Given the description of an element on the screen output the (x, y) to click on. 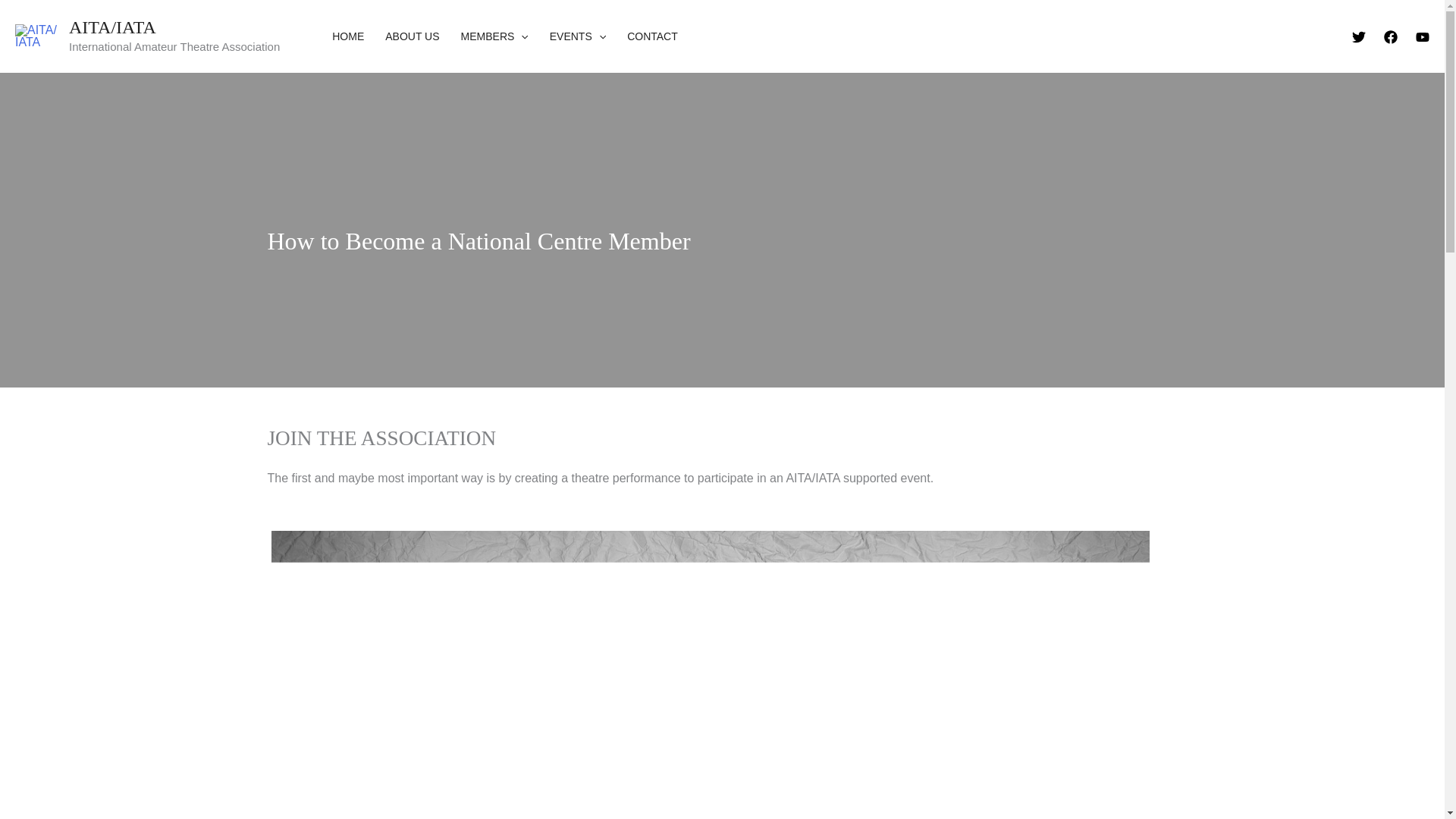
EVENTS (576, 36)
MEMBERS (493, 36)
ABOUT US (411, 36)
CONTACT (651, 36)
